Given the description of an element on the screen output the (x, y) to click on. 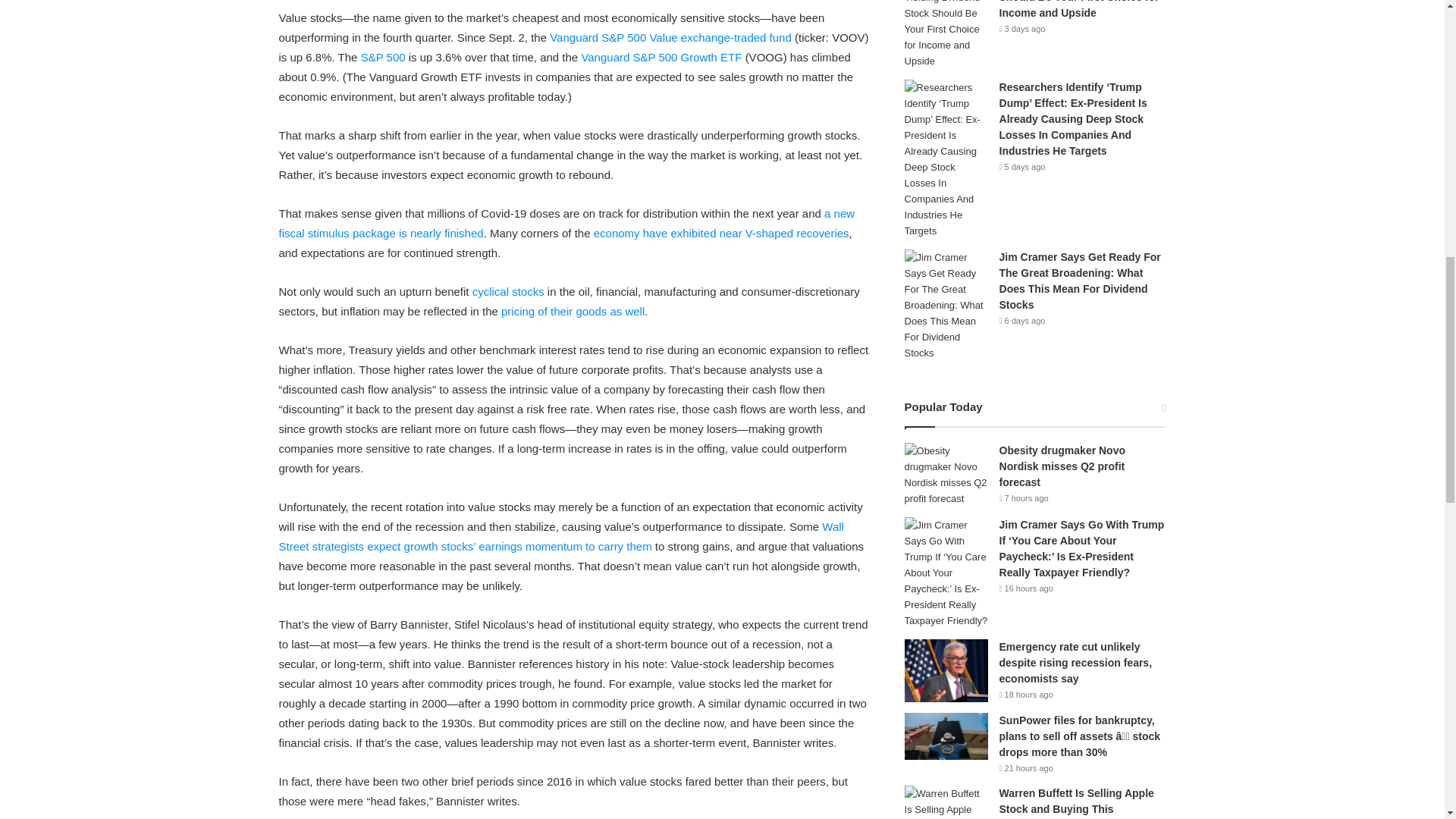
cyclical stocks (507, 291)
a new fiscal stimulus package is nearly finished (567, 223)
pricing of their goods as well (572, 310)
economy have exhibited near V-shaped recoveries (721, 232)
